Given the description of an element on the screen output the (x, y) to click on. 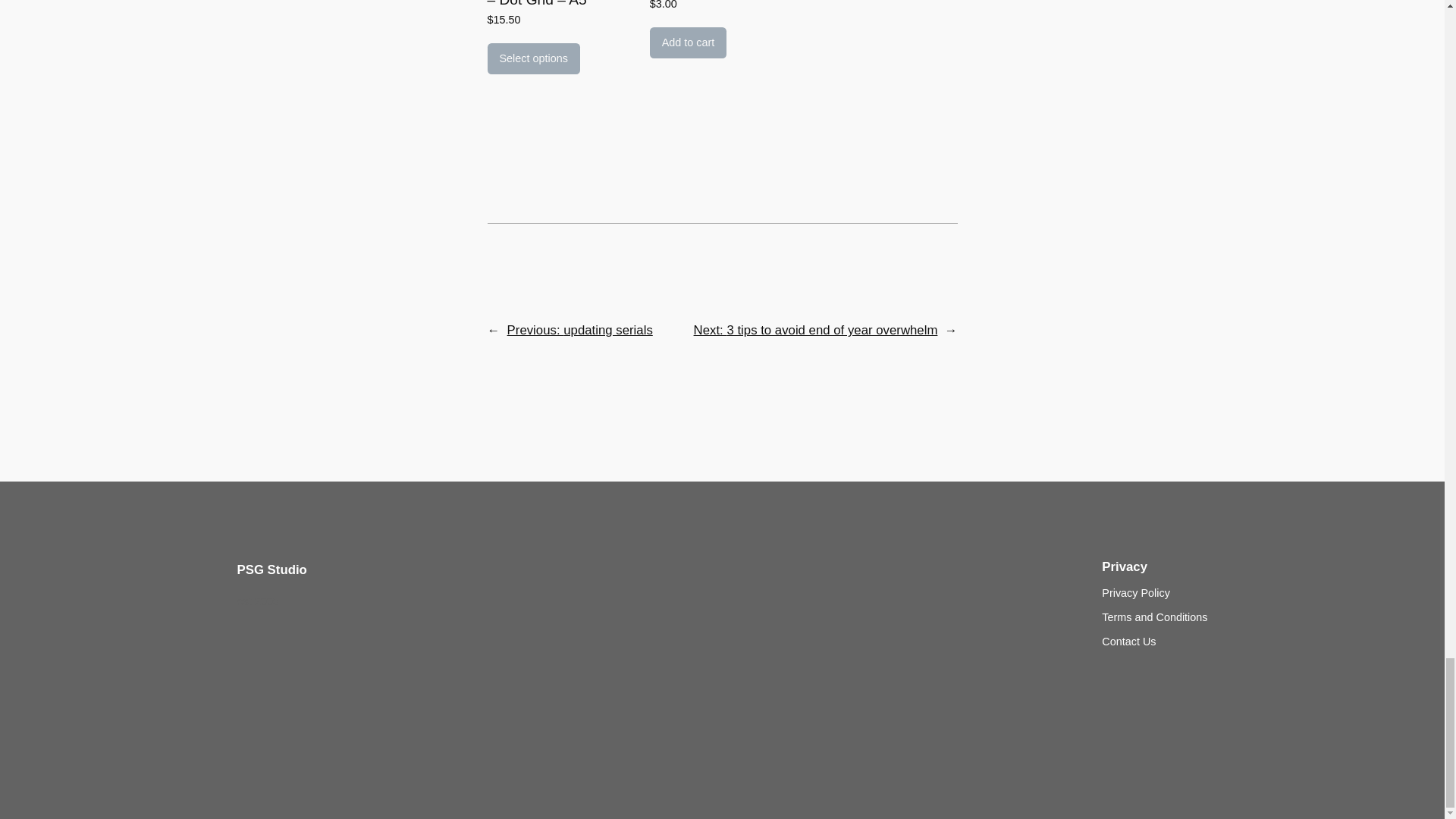
Add to cart (687, 42)
Previous: updating serials (579, 329)
Select options (532, 59)
Terms and Conditions (1154, 617)
PSG Studio (270, 569)
Privacy Policy (1136, 593)
Contact Us (1129, 642)
Next: 3 tips to avoid end of year overwhelm (815, 329)
